Given the description of an element on the screen output the (x, y) to click on. 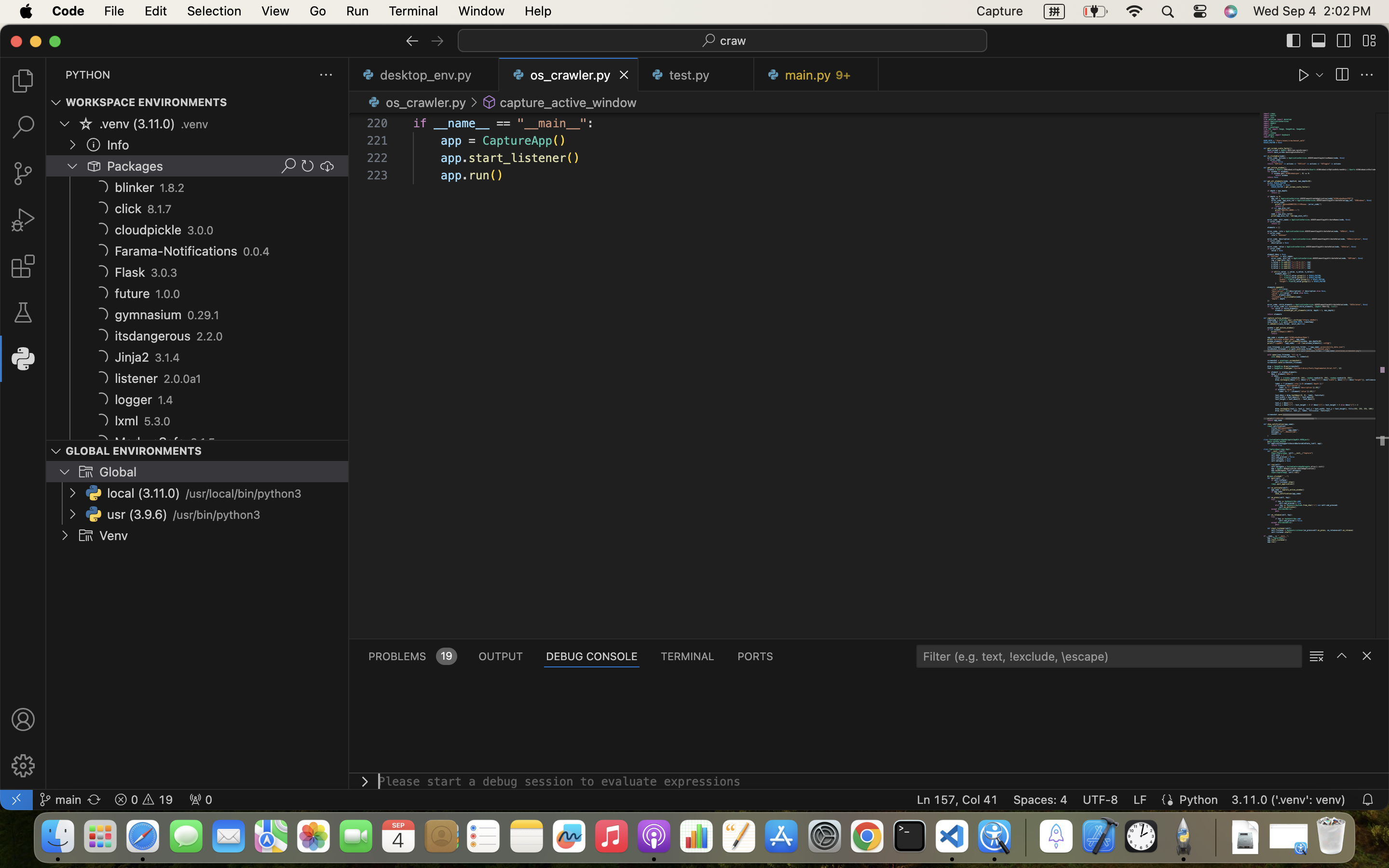
future Element type: AXStaticText (132, 293)
 Element type: AXStaticText (489, 101)
3.1.4 Element type: AXStaticText (167, 357)
 Element type: AXButton (1366, 655)
 Element type: AXCheckBox (1293, 40)
